Given the description of an element on the screen output the (x, y) to click on. 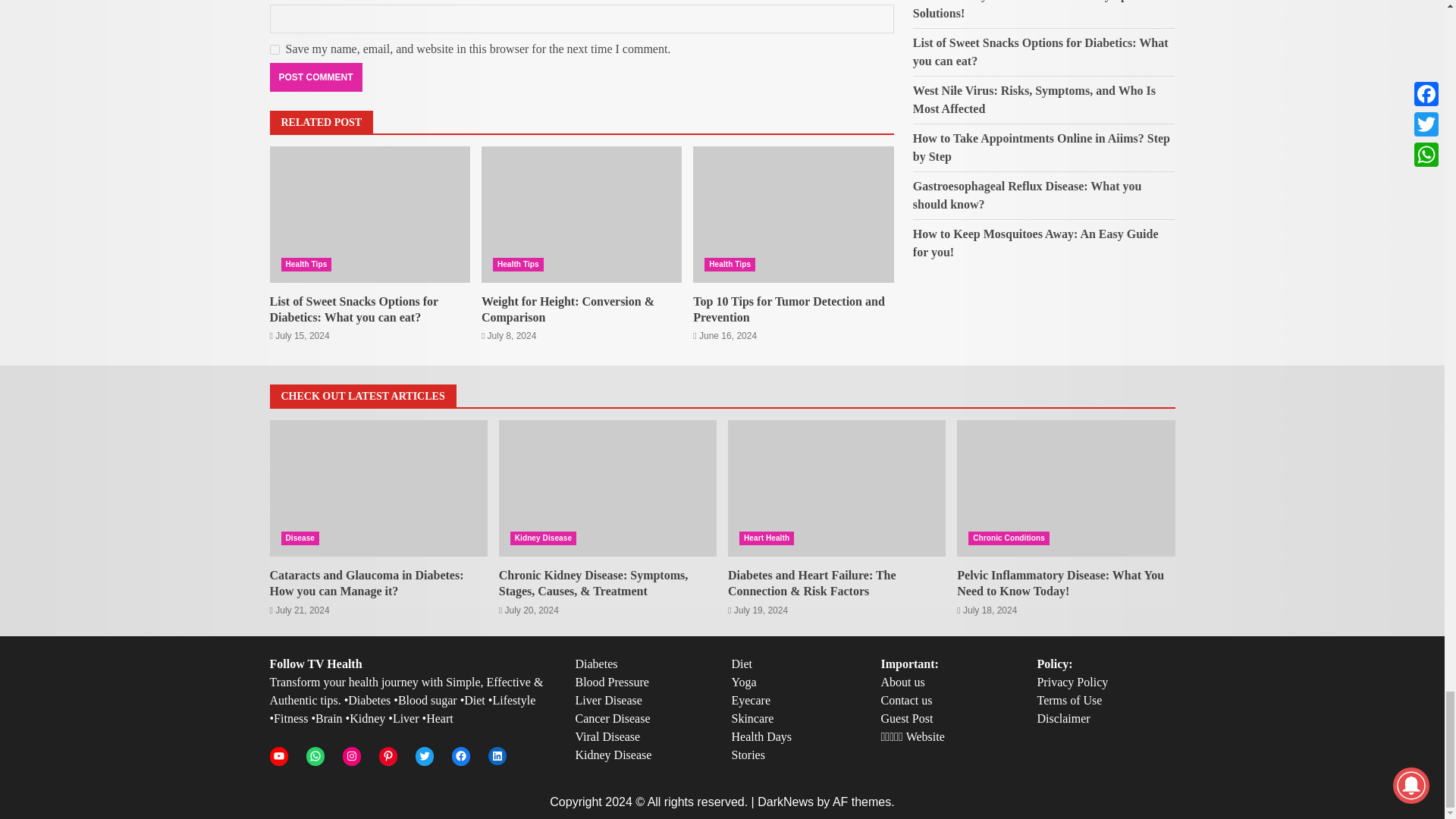
Post Comment (315, 77)
yes (274, 49)
